Given the description of an element on the screen output the (x, y) to click on. 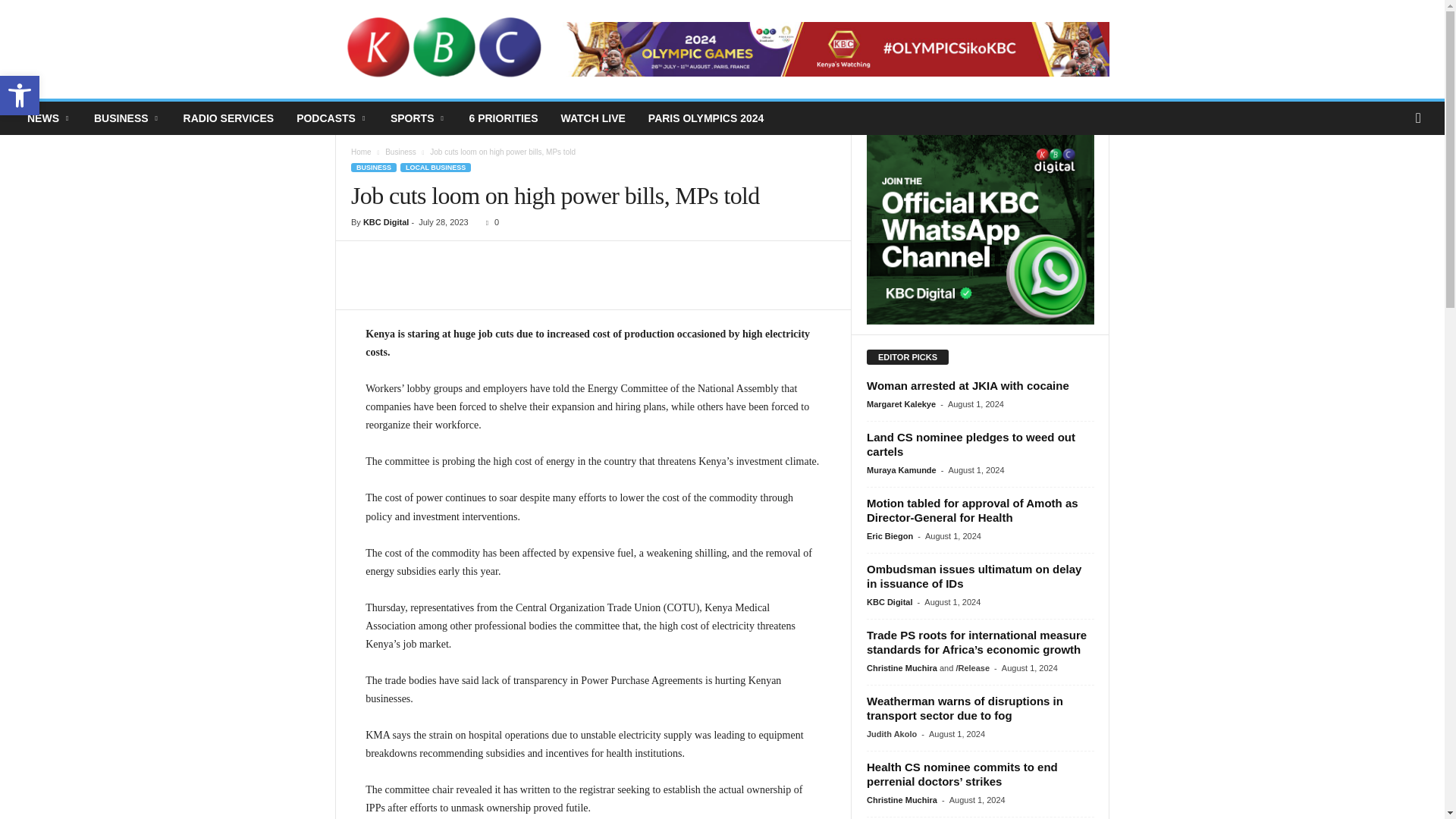
Accessibility Tools (19, 95)
Accessibility Tools (19, 95)
